Given the description of an element on the screen output the (x, y) to click on. 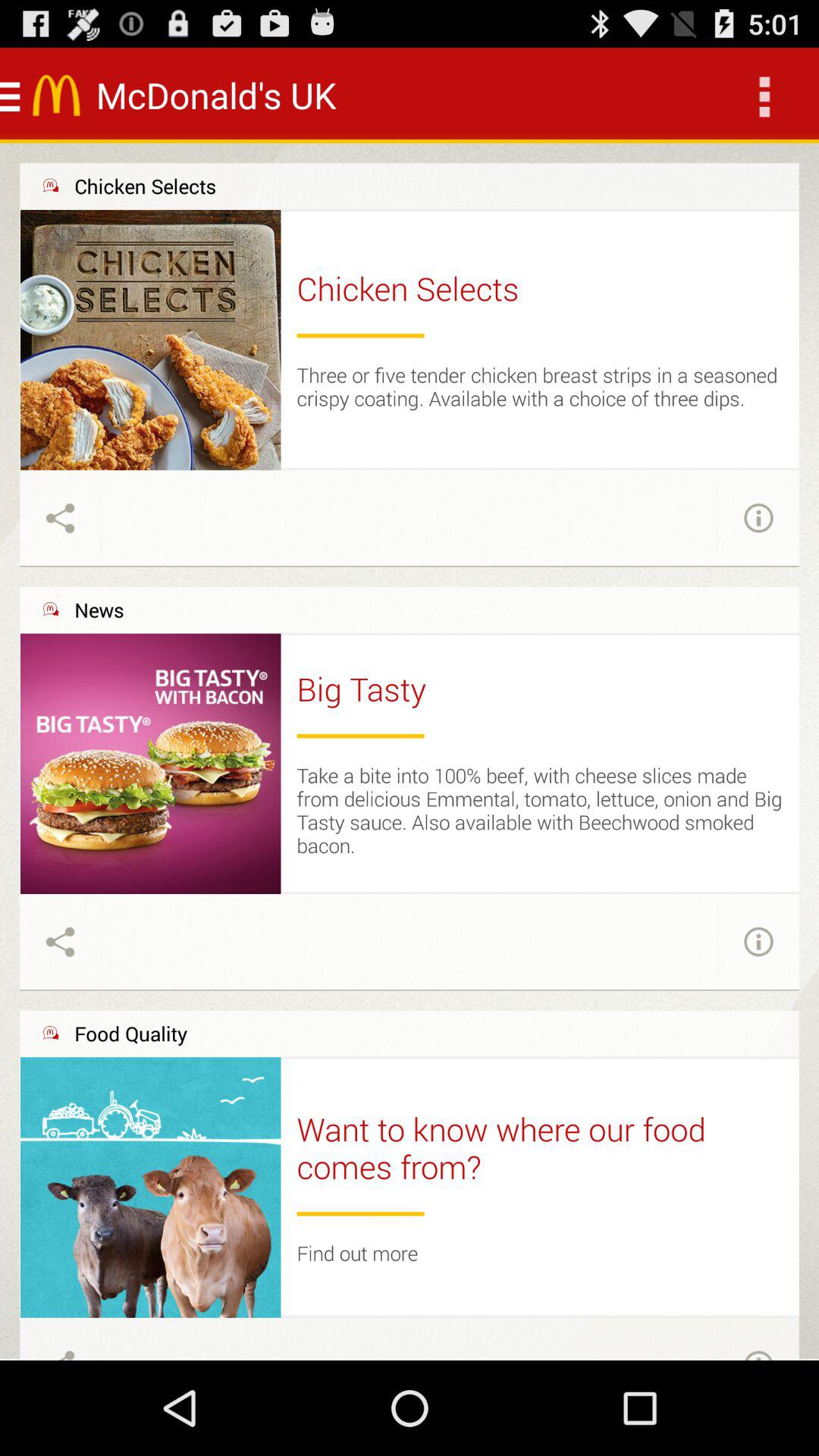
launch icon below take a bite icon (539, 892)
